Given the description of an element on the screen output the (x, y) to click on. 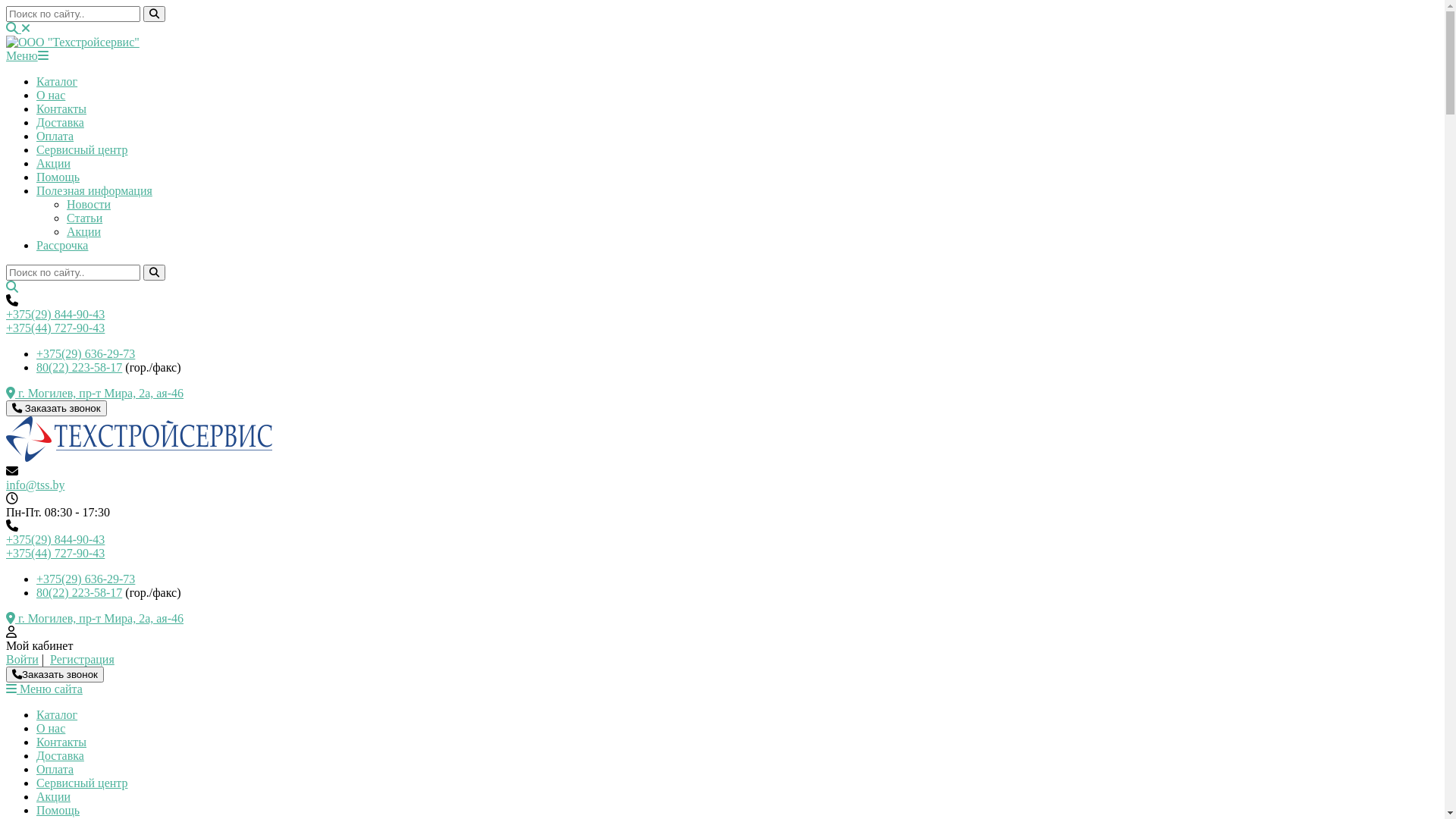
+375(29) 636-29-73 Element type: text (85, 578)
+375(29) 636-29-73 Element type: text (85, 353)
info@tss.by Element type: text (35, 484)
80(22) 223-58-17 Element type: text (79, 592)
+375(44) 727-90-43 Element type: text (55, 327)
+375(44) 727-90-43 Element type: text (55, 552)
+375(29) 844-90-43 Element type: text (55, 313)
80(22) 223-58-17 Element type: text (79, 366)
+375(29) 844-90-43 Element type: text (55, 539)
